Given the description of an element on the screen output the (x, y) to click on. 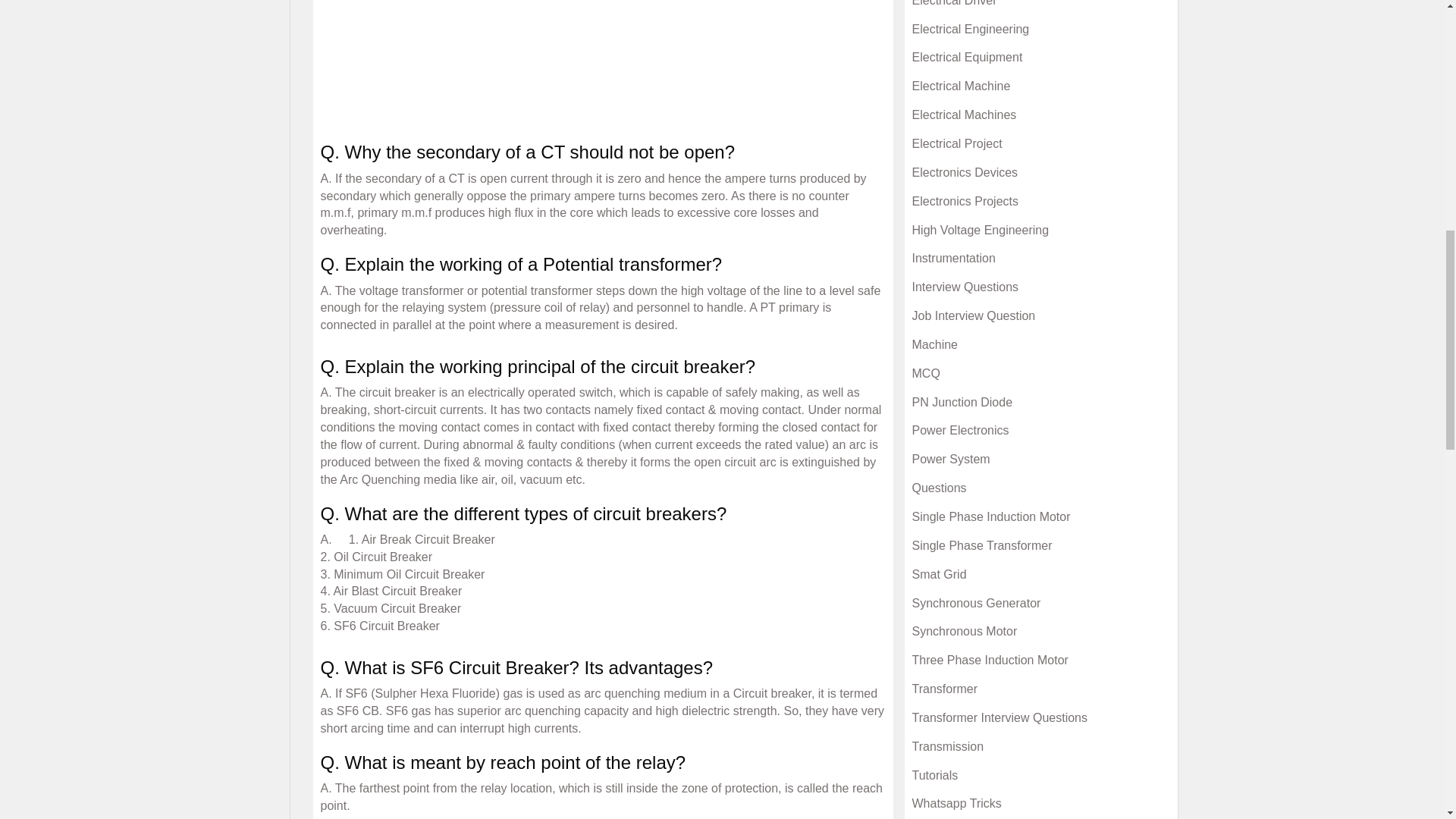
Advertisement (602, 63)
